Given the description of an element on the screen output the (x, y) to click on. 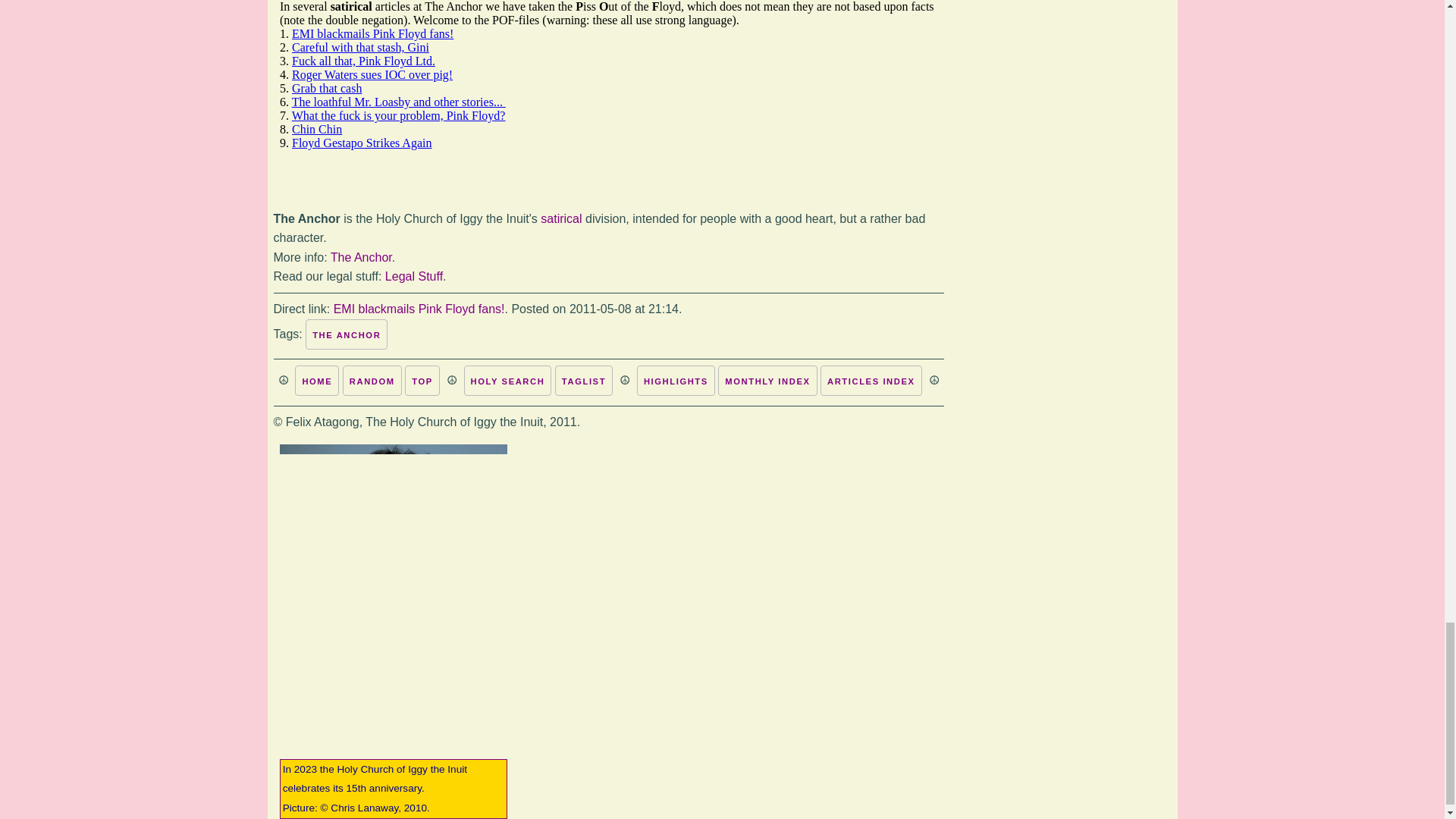
HOLY SEARCH (507, 380)
TOP (421, 380)
THE ANCHOR (346, 334)
RANDOM (371, 380)
TAGLIST (583, 380)
satirical (560, 218)
ARTICLES INDEX (871, 380)
MONTHLY INDEX (766, 380)
EMI blackmails Pink Floyd fans! (419, 308)
Legal Stuff (413, 276)
